Given the description of an element on the screen output the (x, y) to click on. 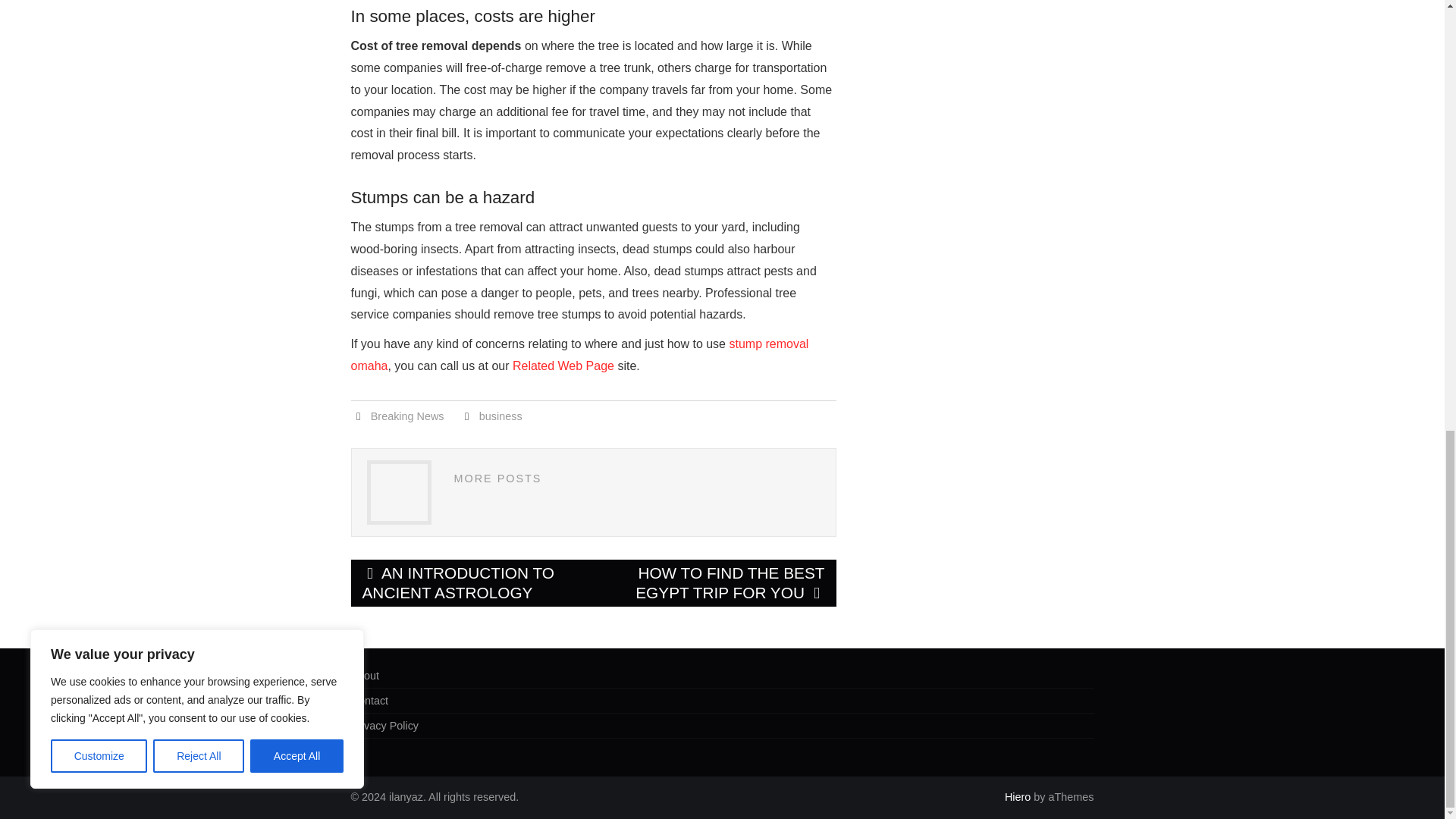
AN INTRODUCTION TO ANCIENT ASTROLOGY (471, 582)
HOW TO FIND THE BEST EGYPT TRIP FOR YOU (713, 582)
Breaking News (407, 416)
Related Web Page (563, 365)
business (500, 416)
MORE POSTS (496, 478)
stump removal omaha (579, 354)
